Given the description of an element on the screen output the (x, y) to click on. 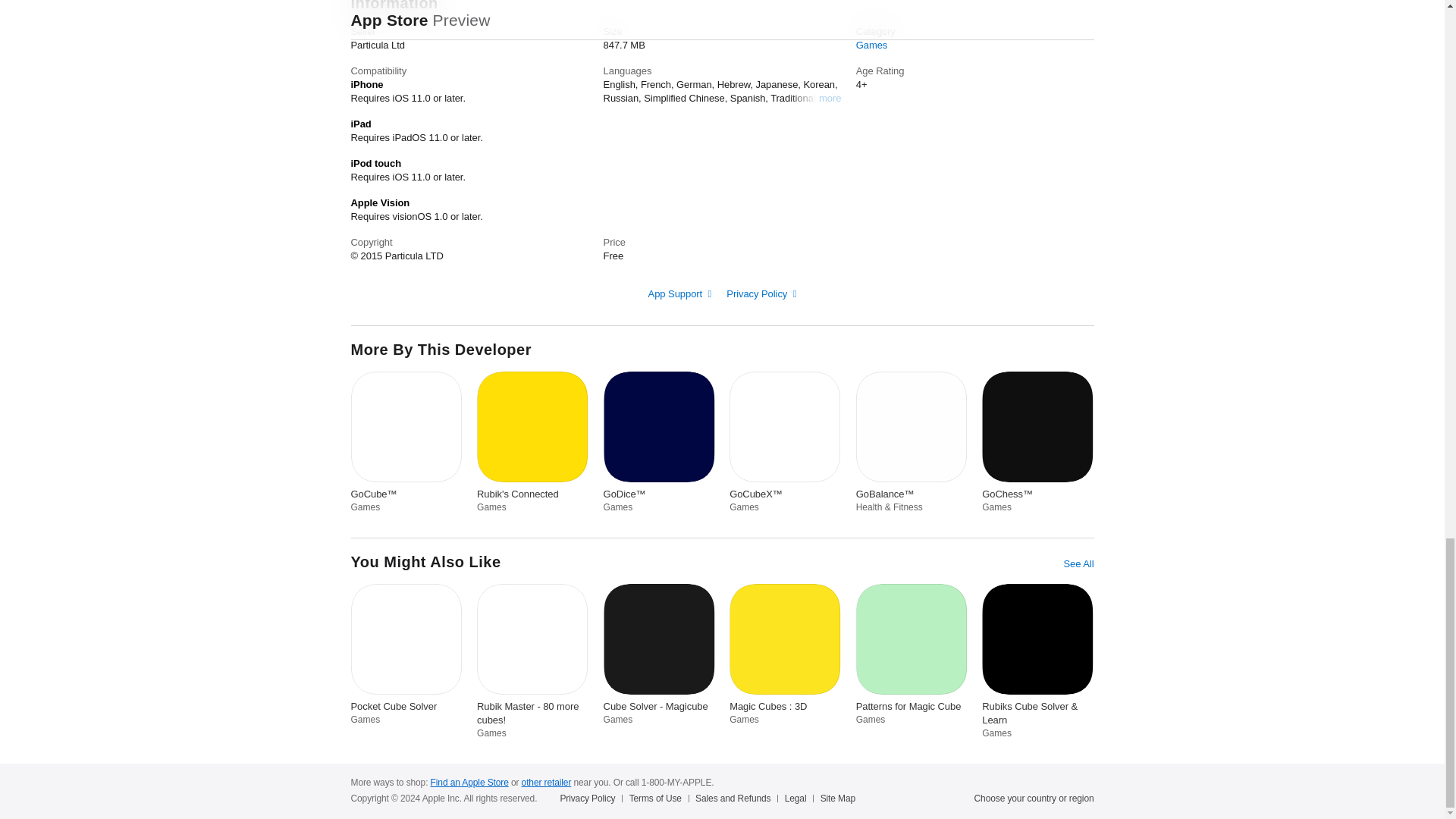
more (829, 97)
App Support (679, 293)
Privacy Policy (761, 293)
Choose your country or region (1034, 797)
Games (872, 44)
